Given the description of an element on the screen output the (x, y) to click on. 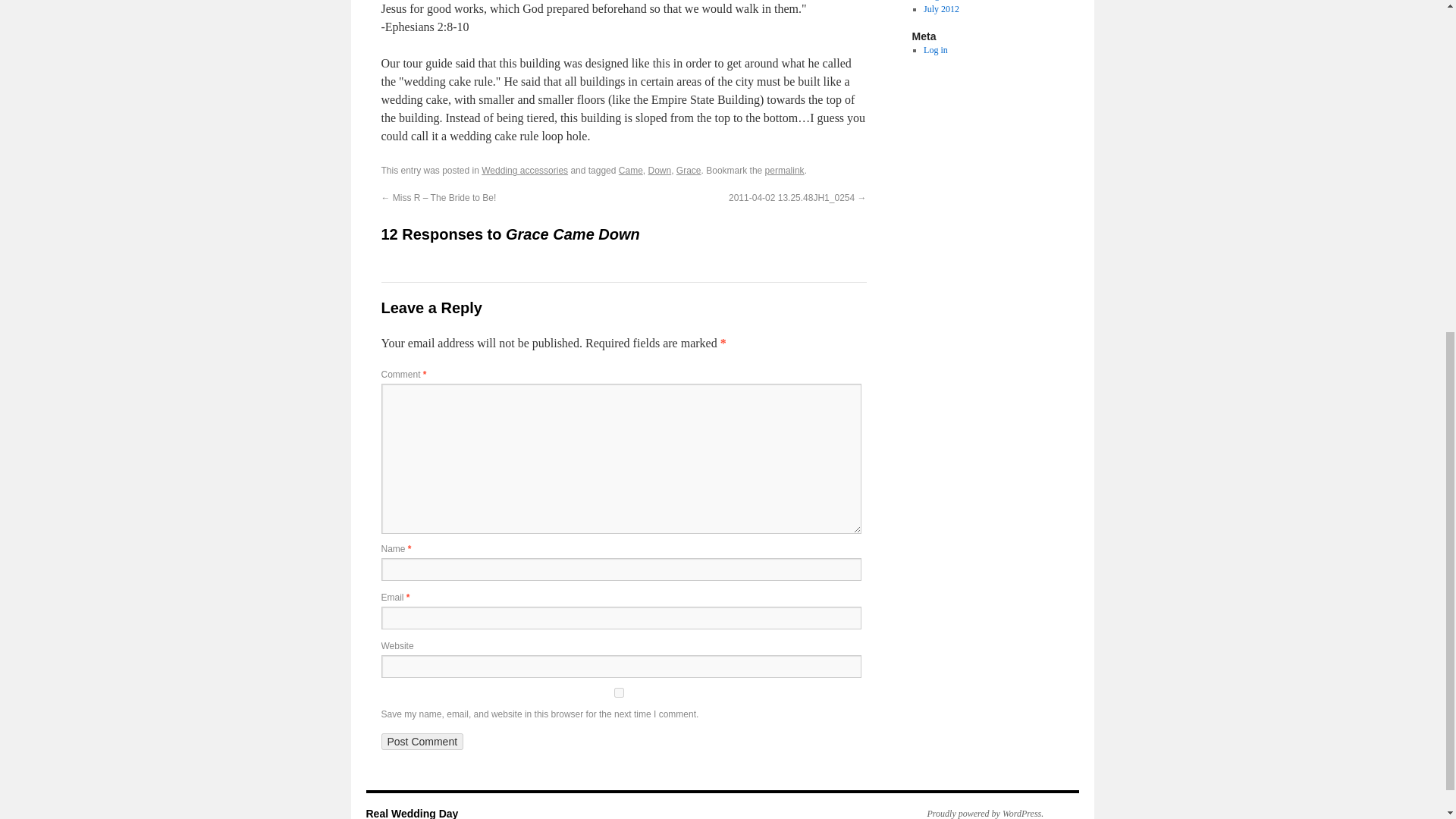
permalink (785, 170)
Post Comment (421, 741)
Down (659, 170)
Came (630, 170)
Post Comment (421, 741)
Wedding accessories (524, 170)
Grace (689, 170)
yes (618, 692)
Permalink to Grace Came Down (785, 170)
